Given the description of an element on the screen output the (x, y) to click on. 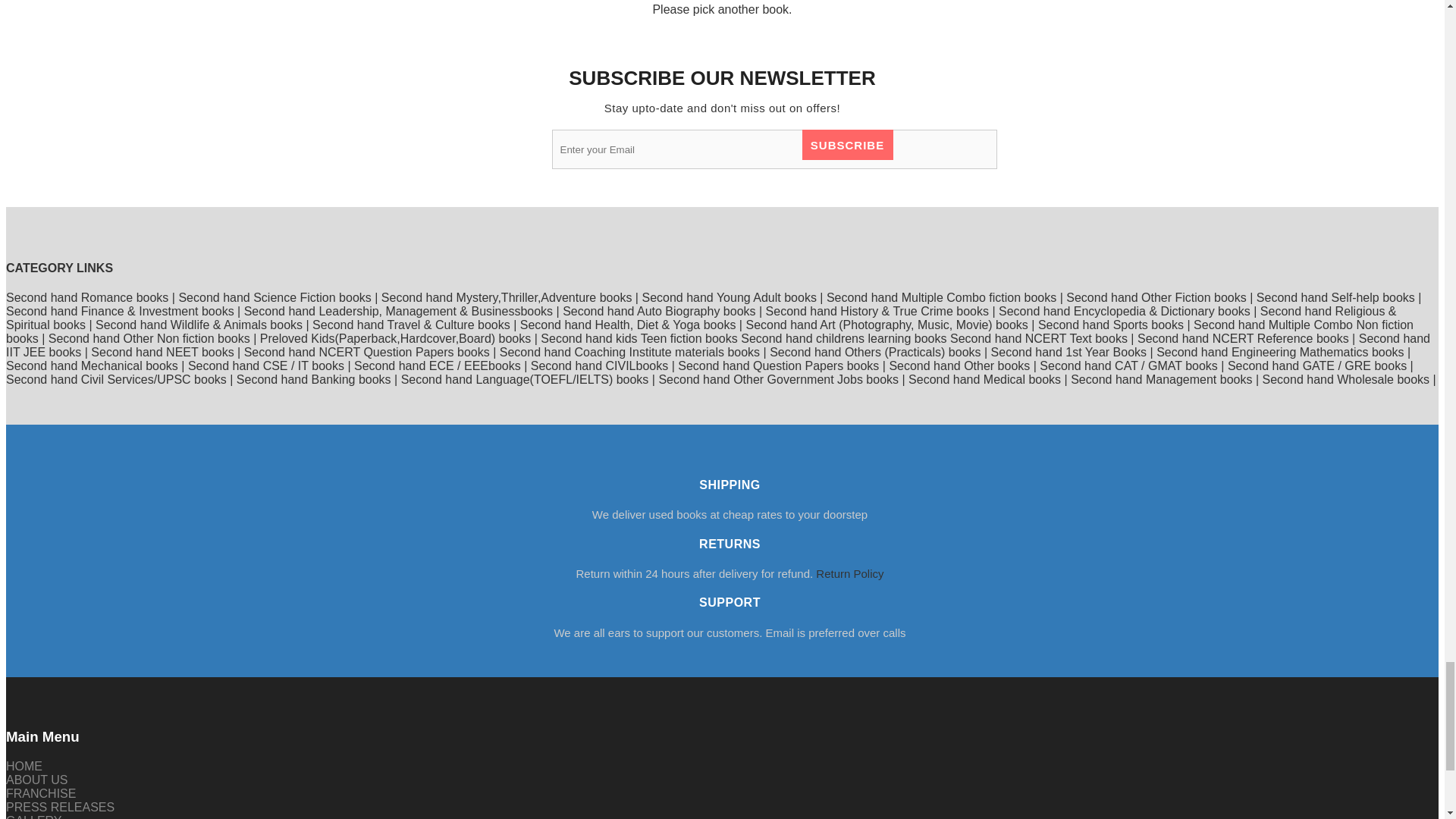
Subscribe (847, 144)
